Given the description of an element on the screen output the (x, y) to click on. 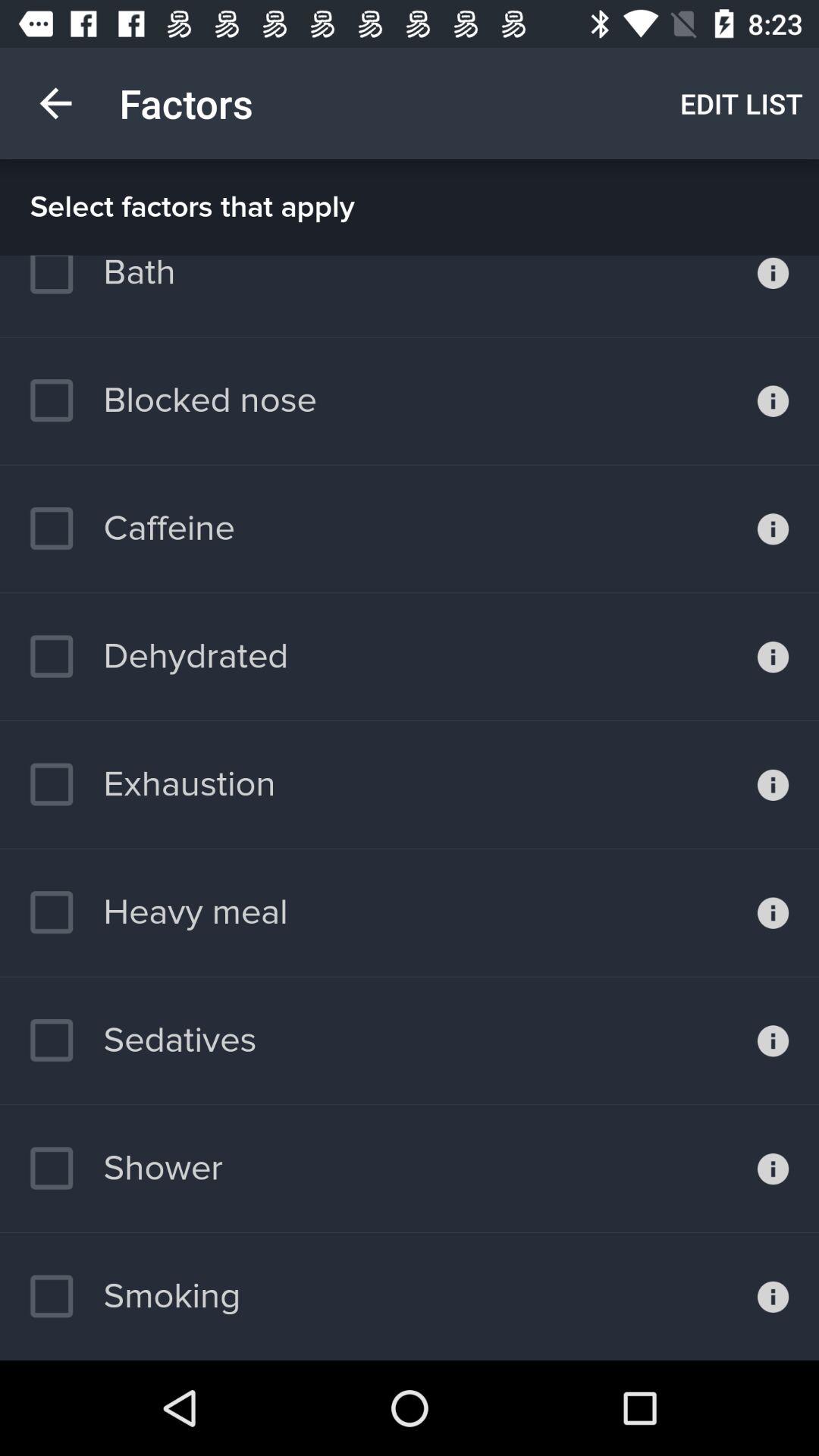
open that option (773, 1296)
